Given the description of an element on the screen output the (x, y) to click on. 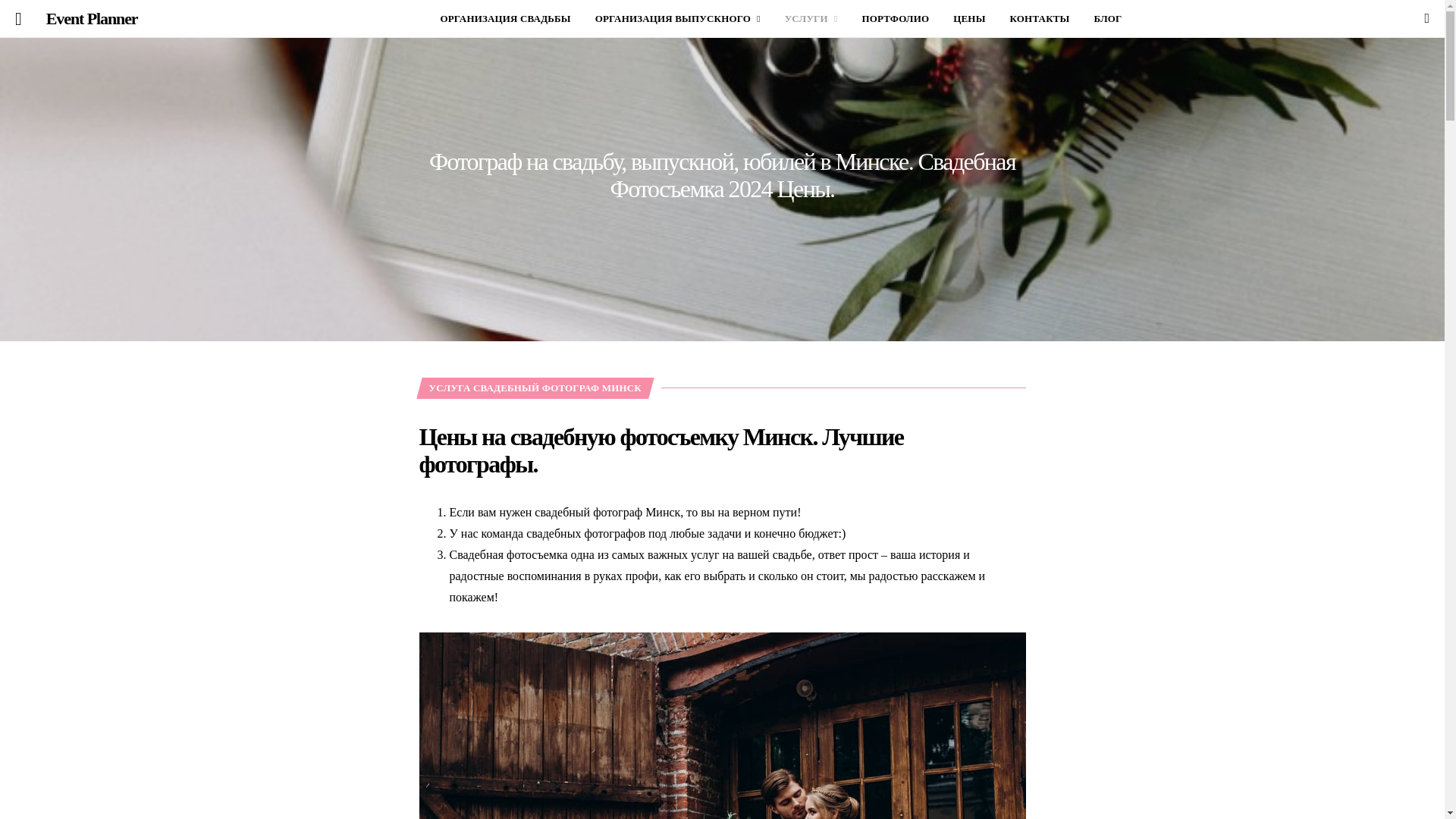
Event Planner Element type: text (92, 18)
